Given the description of an element on the screen output the (x, y) to click on. 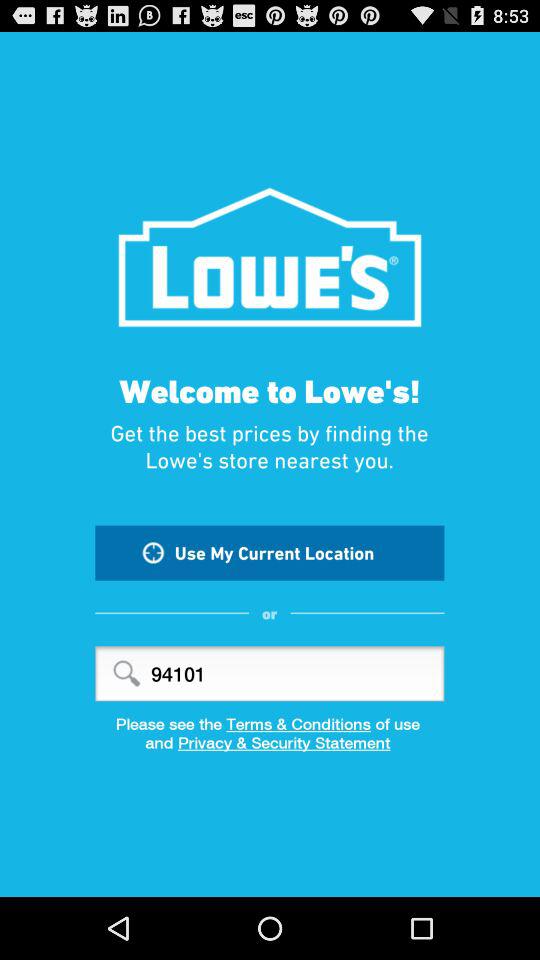
choose the 94101 icon (269, 673)
